Given the description of an element on the screen output the (x, y) to click on. 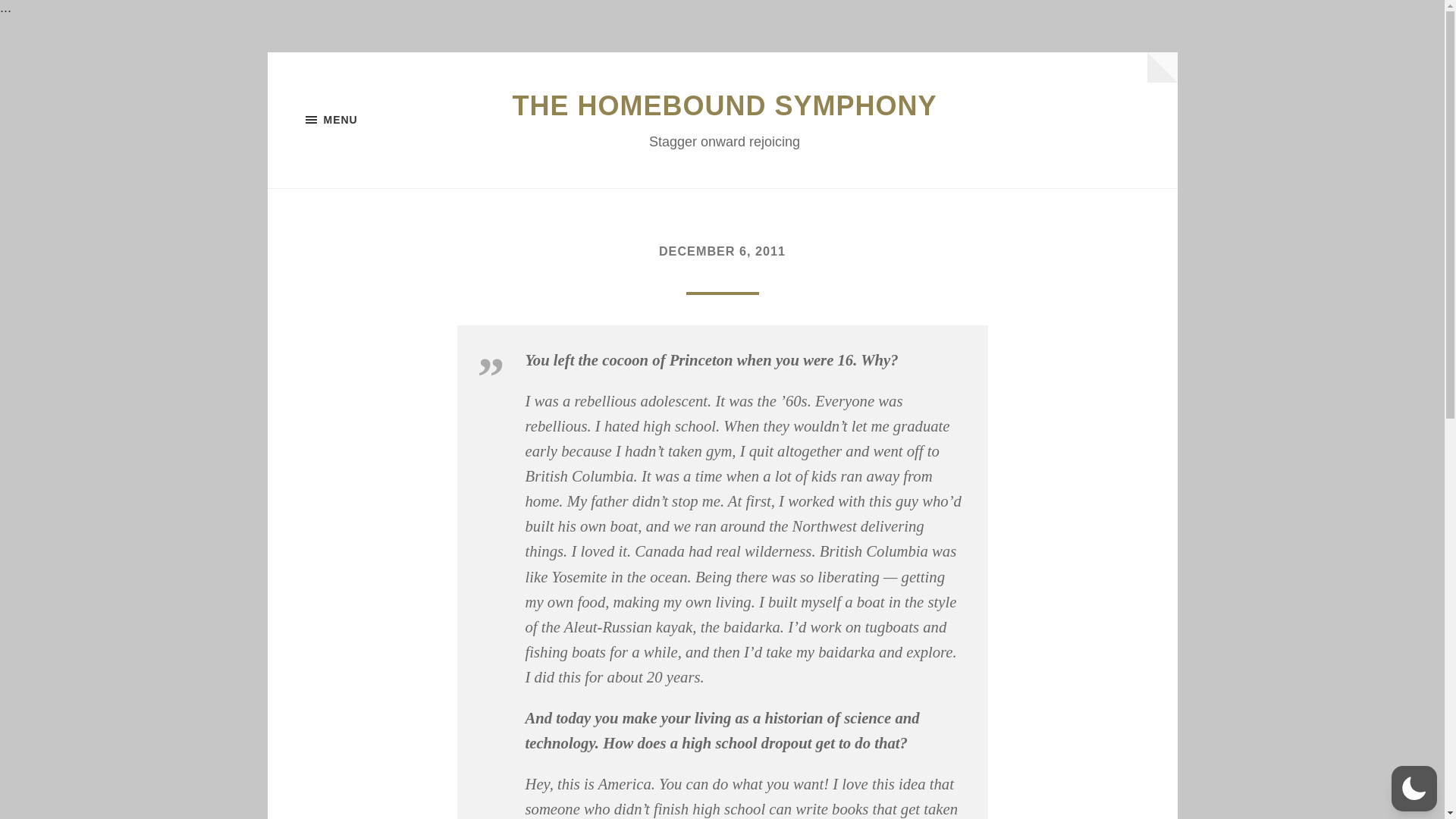
DECEMBER 6, 2011 (722, 250)
THE HOMEBOUND SYMPHONY (724, 105)
MENU (380, 119)
